Given the description of an element on the screen output the (x, y) to click on. 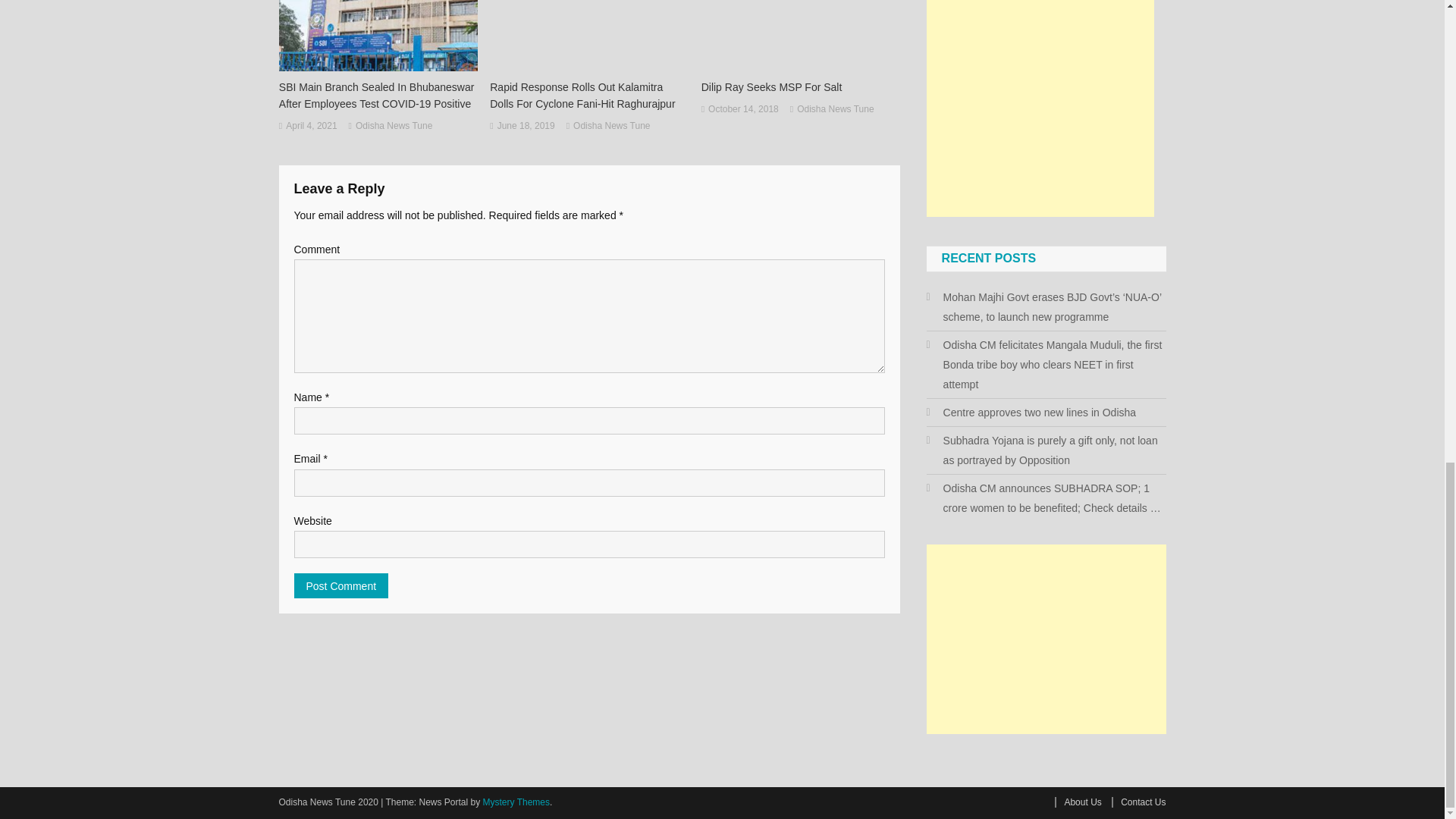
Odisha News Tune (611, 126)
Odisha News Tune (393, 126)
April 4, 2021 (310, 126)
Advertisement (1046, 638)
June 18, 2019 (525, 126)
Post Comment (341, 585)
Advertisement (1040, 108)
Dilip Ray Seeks MSP For Salt (800, 86)
